Given the description of an element on the screen output the (x, y) to click on. 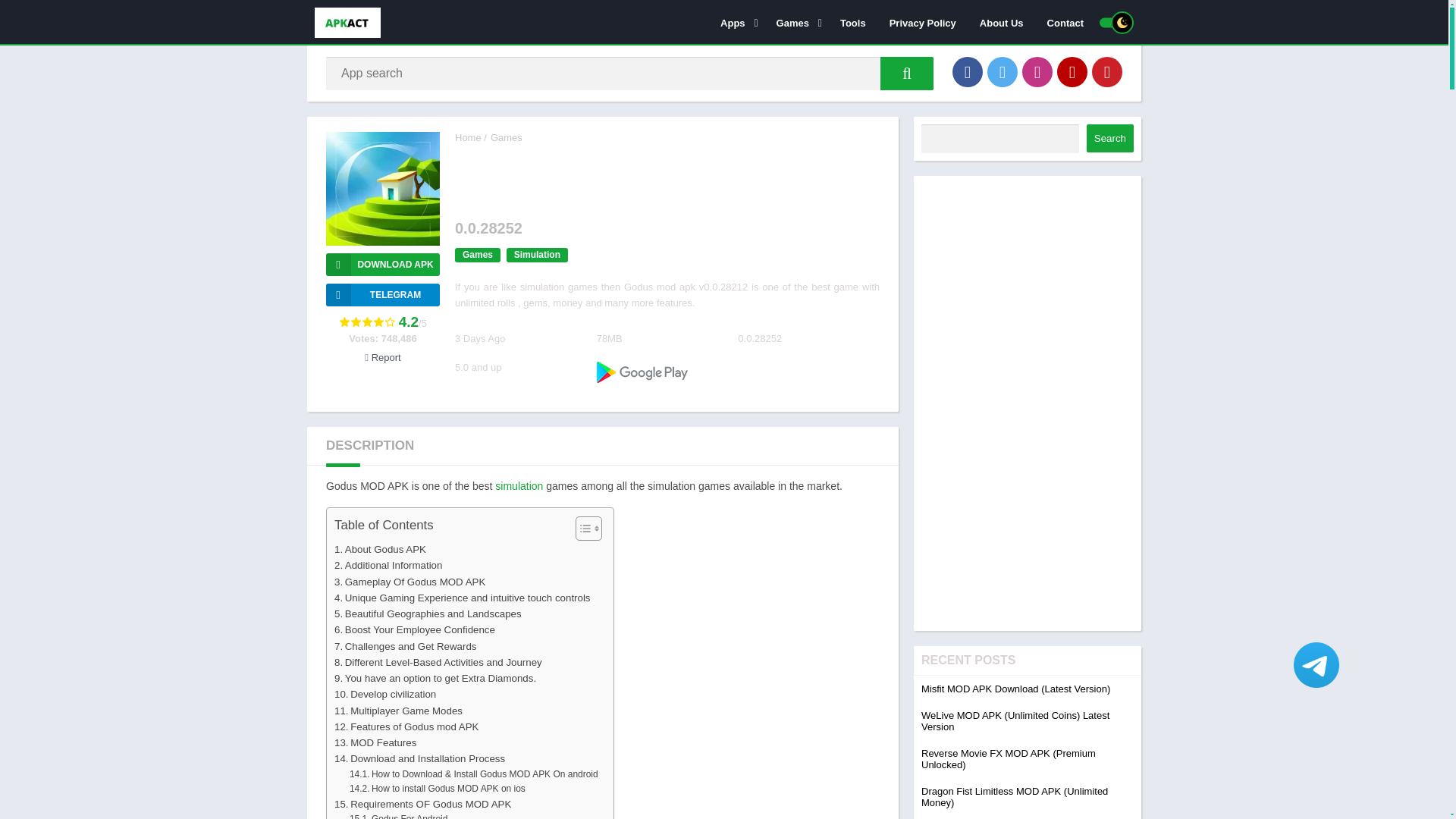
Instagram (1037, 71)
Privacy Policy (922, 22)
Unique Gaming Experience and intuitive touch controls (462, 597)
Download APK (382, 264)
Boost Your Employee Confidence (414, 629)
Additional Information (388, 565)
Facebook (967, 71)
You have an option to get Extra Diamonds. (434, 678)
Games (796, 22)
YouTube (1072, 71)
Tools (852, 22)
Different Level-Based Activities and Journey (437, 662)
Challenges and Get Rewards (405, 646)
About Us (1001, 22)
Twitter (1002, 71)
